Given the description of an element on the screen output the (x, y) to click on. 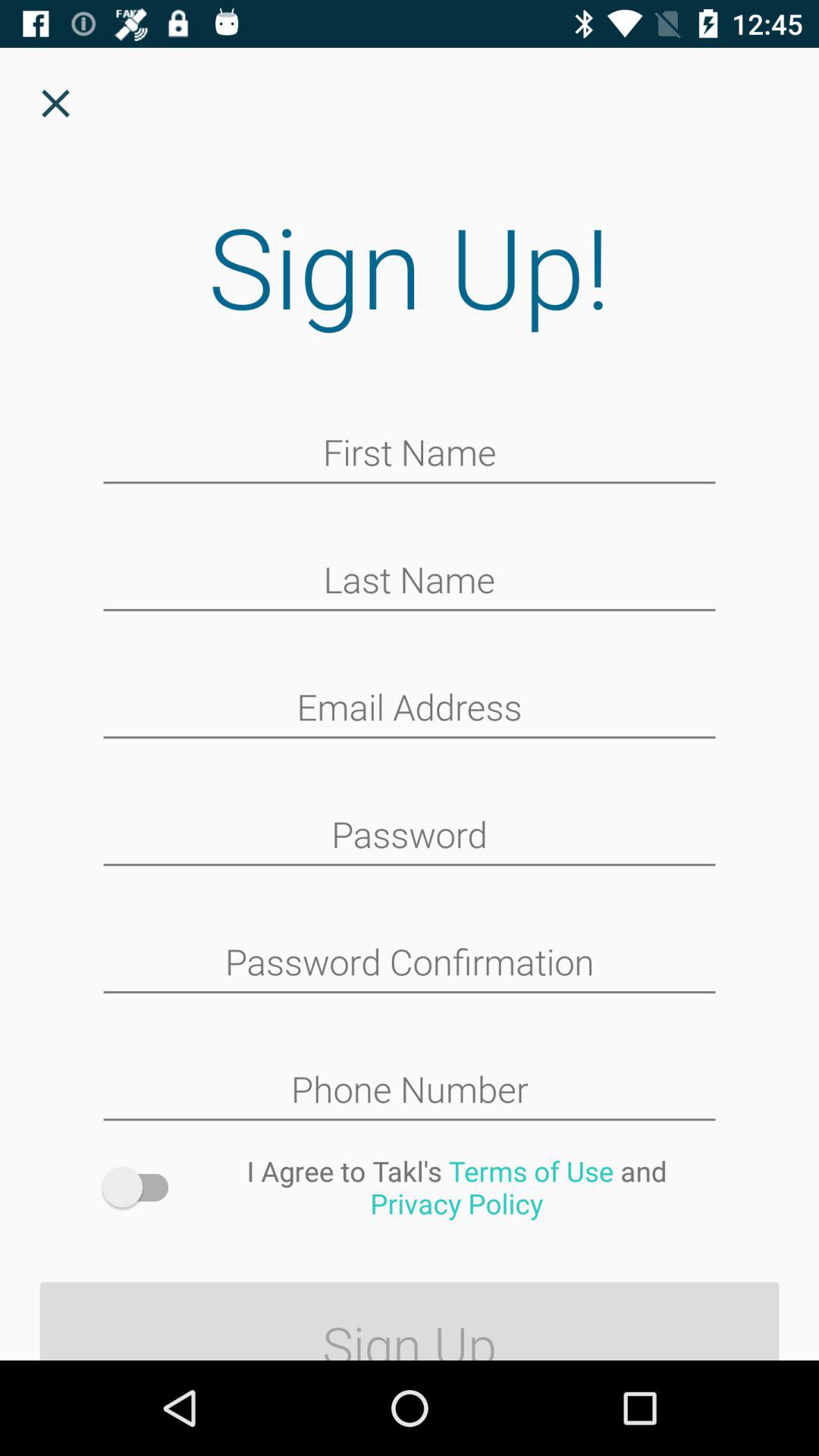
password (409, 836)
